Given the description of an element on the screen output the (x, y) to click on. 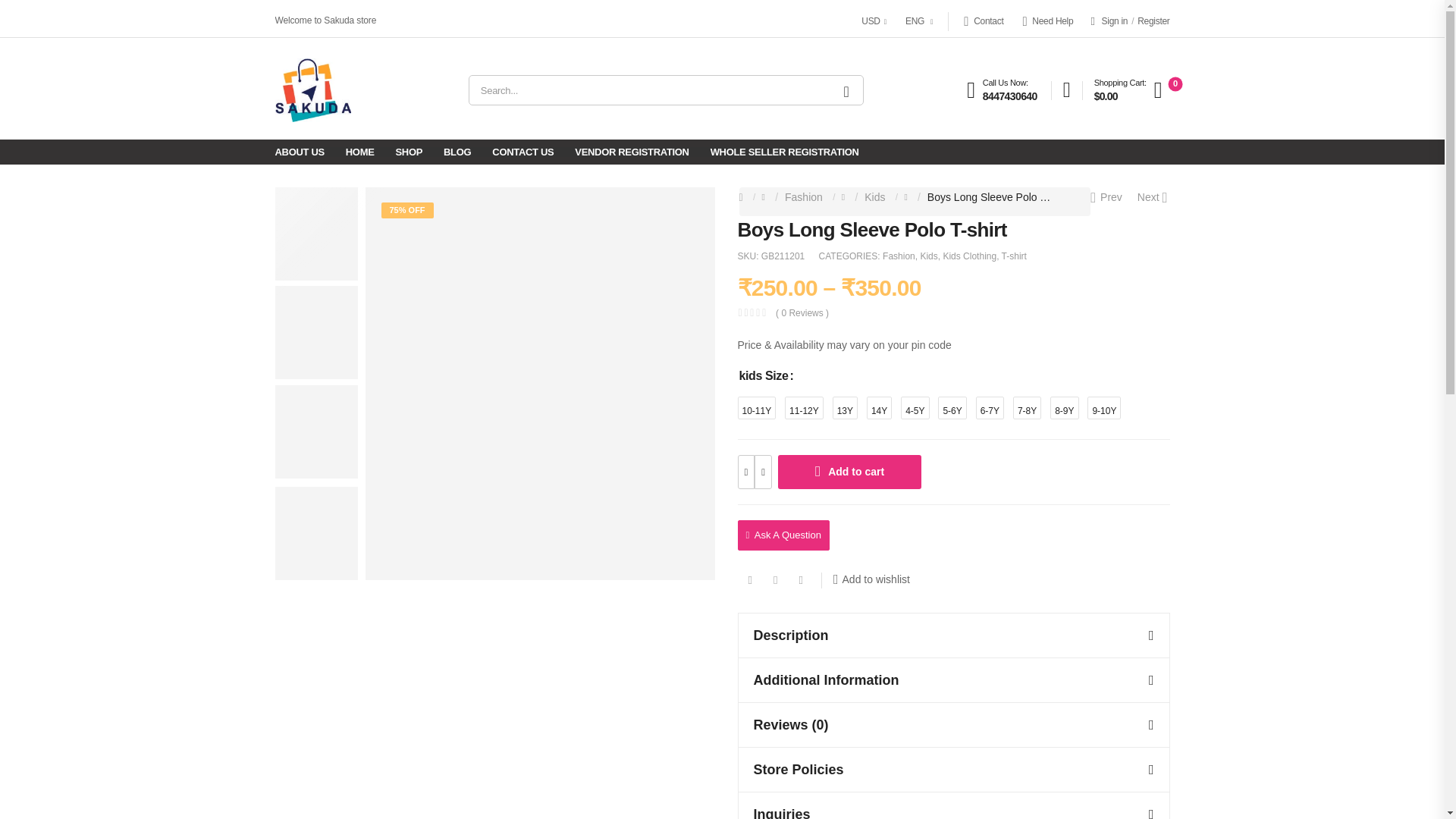
VENDOR REGISTRATION (631, 152)
5-6Y (951, 407)
Register (1153, 21)
4-5Y (914, 407)
4-5Y (914, 407)
ABOUT US (299, 152)
WHOLE SELLER REGISTRATION (784, 152)
11-12Y (804, 407)
BLOG (457, 152)
Kids (928, 255)
Fashion (803, 196)
Fashion (898, 255)
13Y (844, 407)
14Y (878, 407)
6-7Y (989, 407)
